Given the description of an element on the screen output the (x, y) to click on. 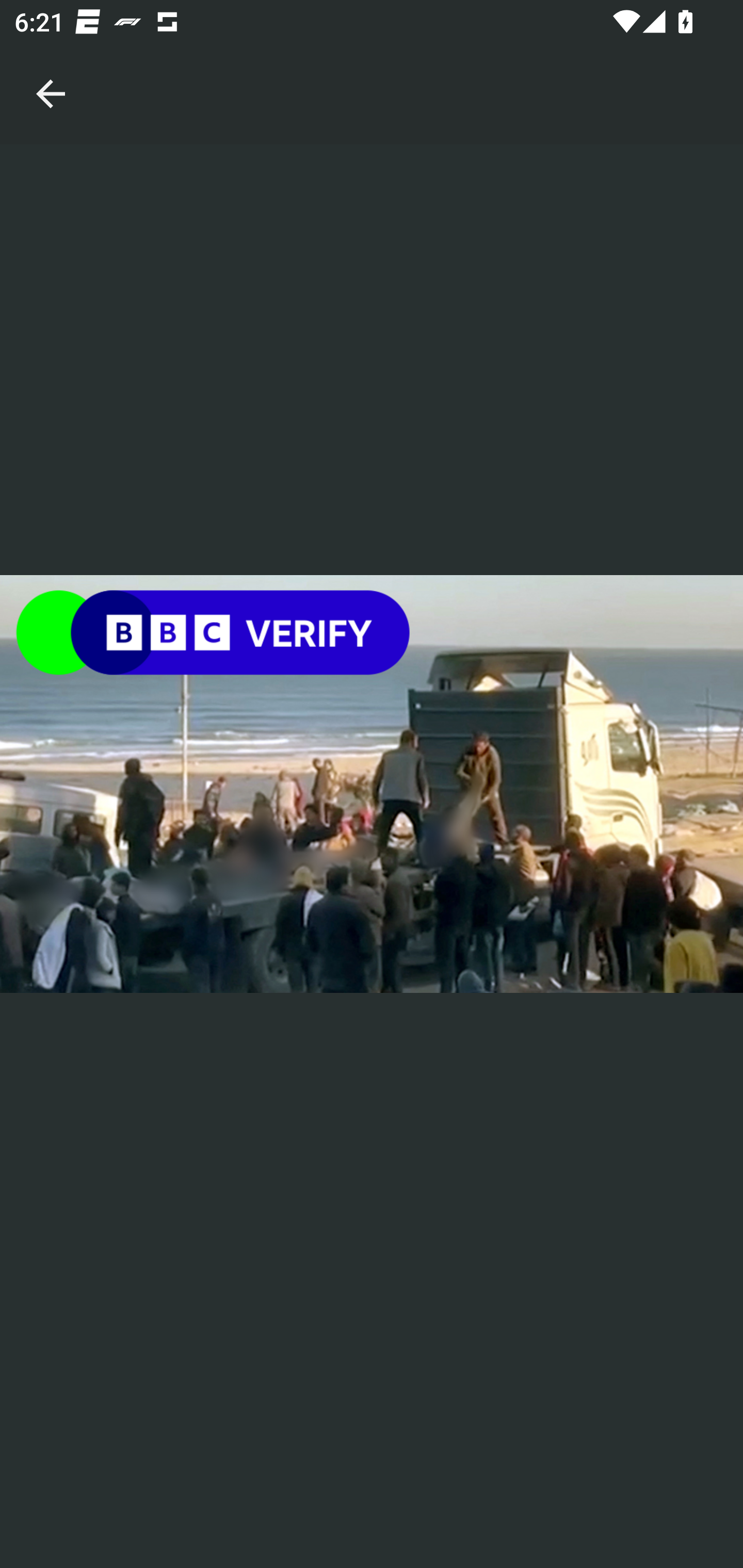
Back (50, 72)
